Given the description of an element on the screen output the (x, y) to click on. 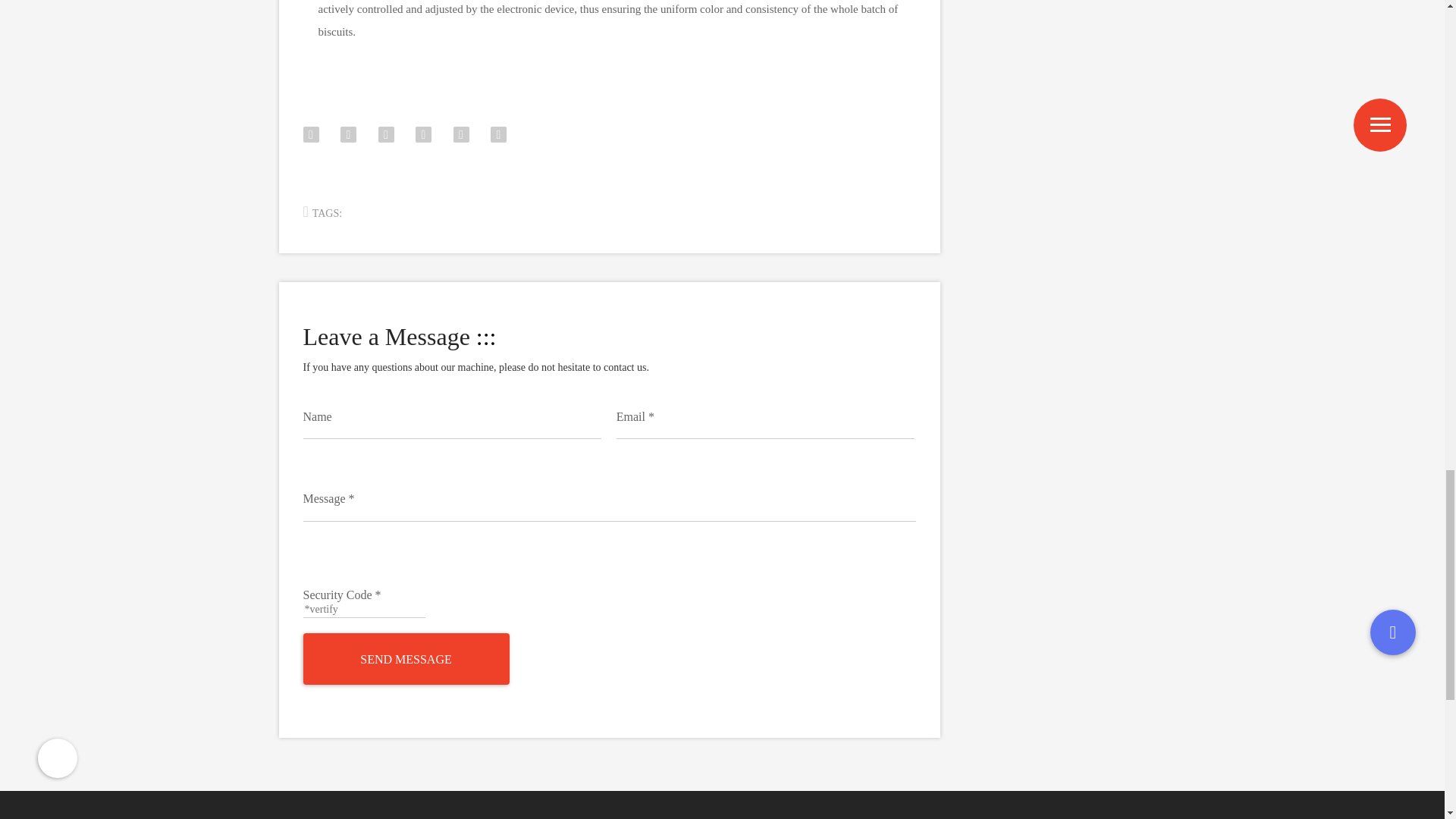
SEND MESSAGE (405, 658)
